Given the description of an element on the screen output the (x, y) to click on. 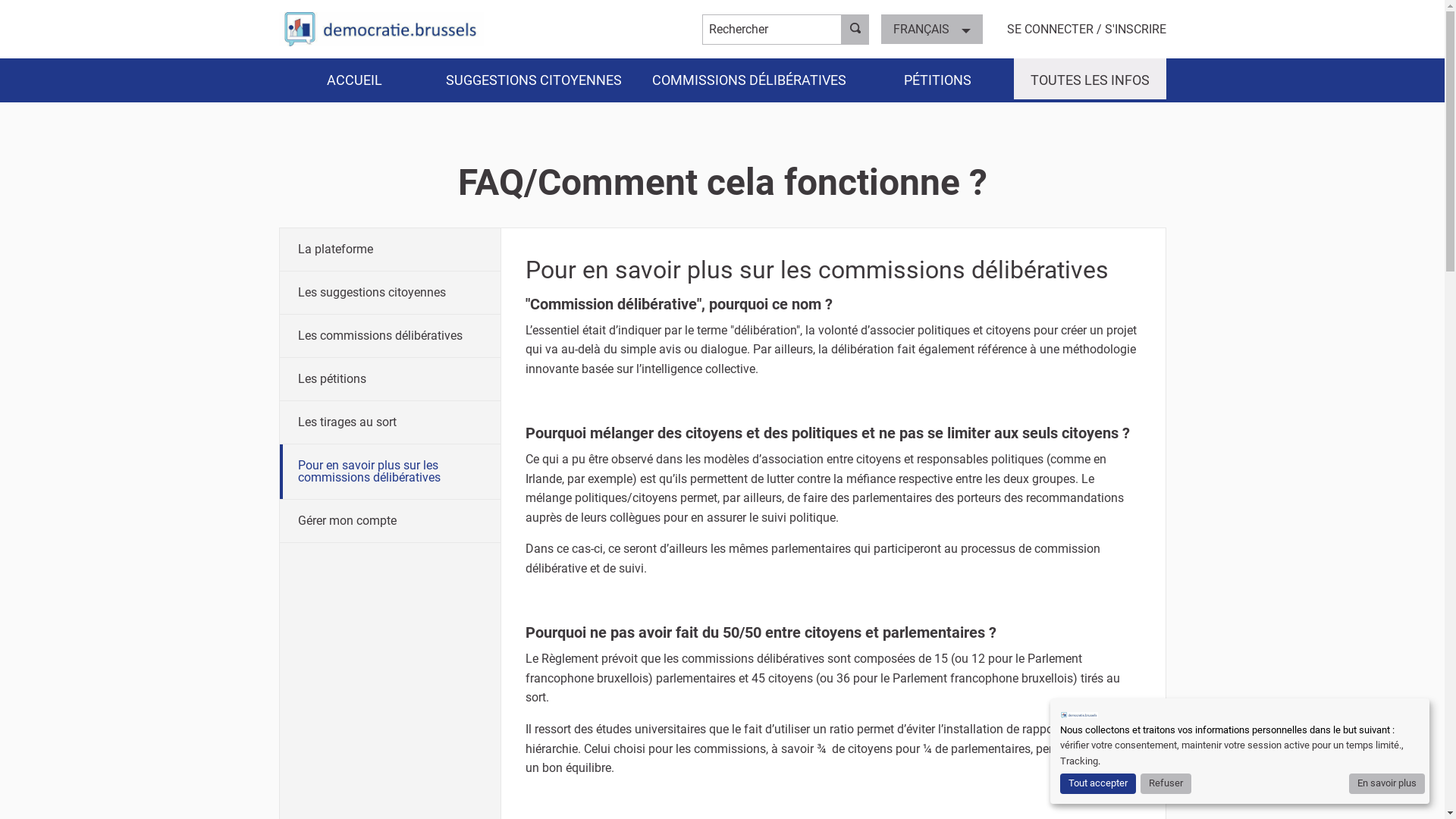
SUGGESTIONS CITOYENNES Element type: text (533, 80)
En savoir plus Element type: text (1386, 783)
SE CONNECTER / S'INSCRIRE Element type: text (1086, 28)
TOUTES LES INFOS Element type: text (1089, 80)
ACCUEIL Element type: text (355, 80)
Rechercher Element type: text (855, 28)
Les suggestions citoyennes Element type: text (389, 292)
Refuser Element type: text (1165, 783)
Rechercher Element type: hover (771, 28)
Les tirages au sort Element type: text (389, 422)
Tout accepter Element type: text (1097, 783)
La plateforme Element type: text (389, 249)
